Given the description of an element on the screen output the (x, y) to click on. 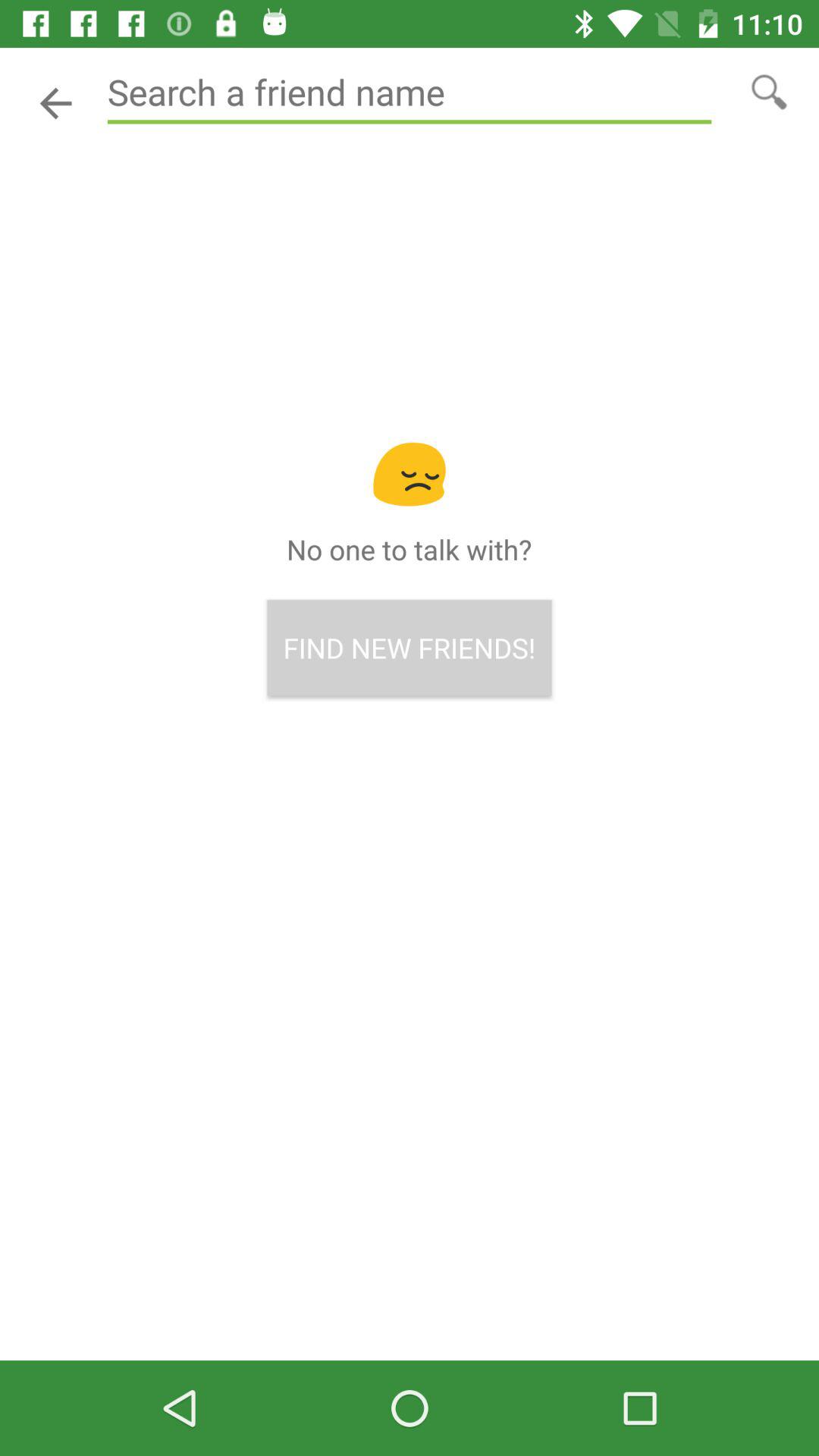
a search function (409, 92)
